Given the description of an element on the screen output the (x, y) to click on. 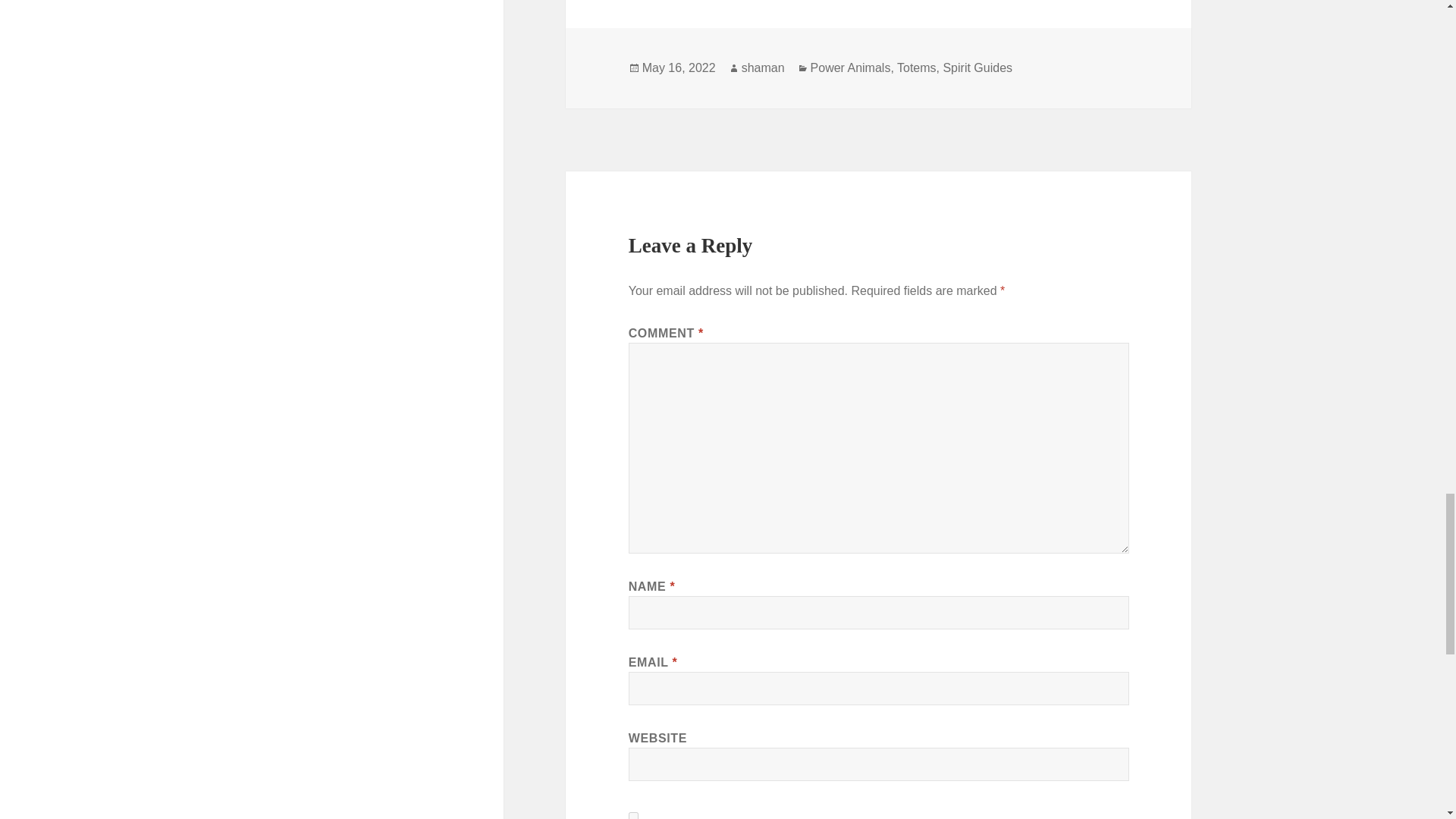
Power Animals, Totems, Spirit Guides (910, 68)
May 16, 2022 (679, 68)
yes (633, 815)
shaman (762, 68)
